Given the description of an element on the screen output the (x, y) to click on. 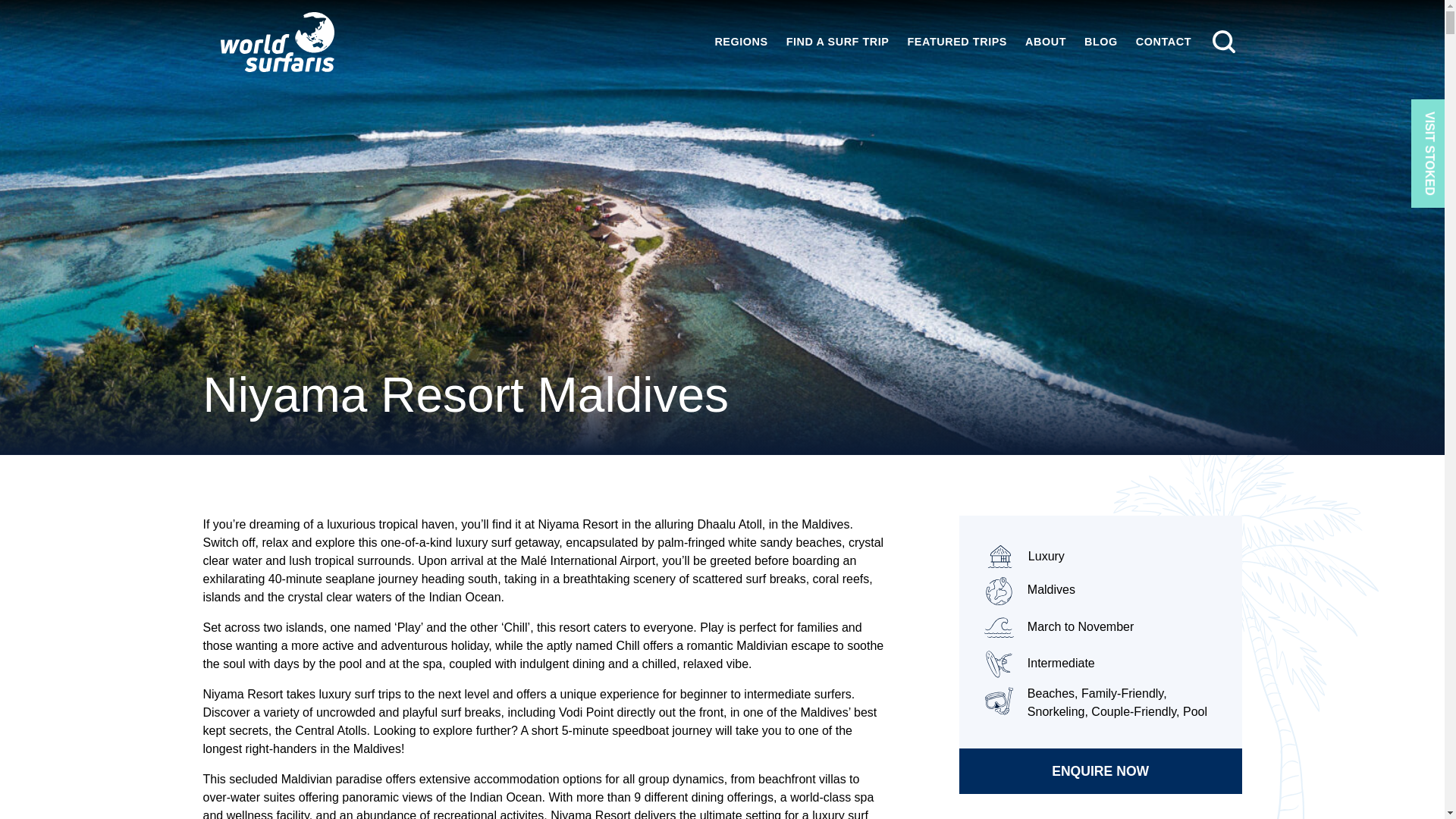
Which Surf Trip is right for you? (1024, 555)
Recommended Surf skill (1100, 664)
Region (1100, 590)
Best surf season (1100, 627)
REGIONS (740, 41)
Other things to do (1100, 702)
World Surfaris (277, 42)
Enquire about this trip (1100, 770)
FEATURED TRIPS (957, 41)
FIND A SURF TRIP (837, 41)
